Given the description of an element on the screen output the (x, y) to click on. 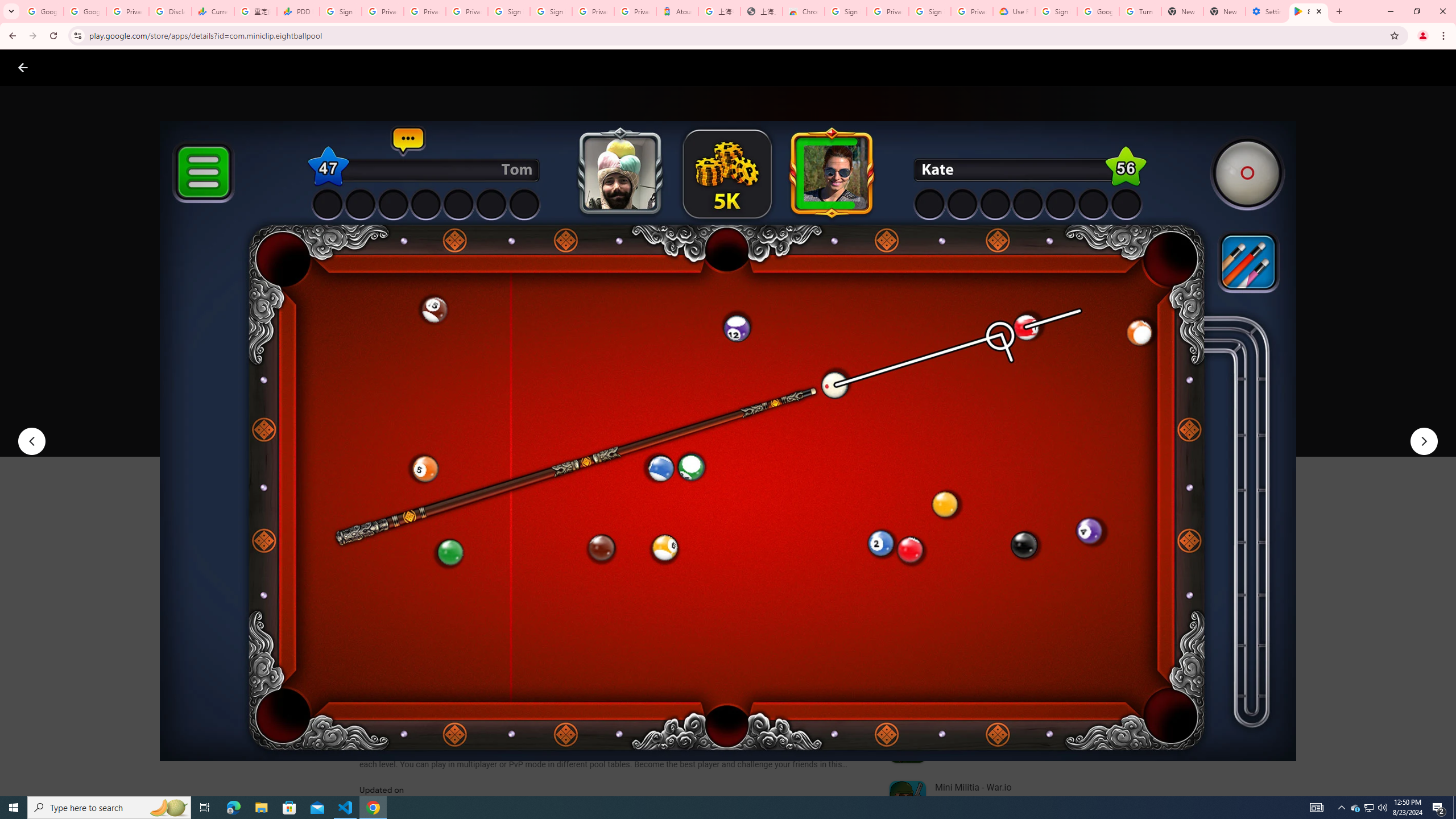
Currencies - Google Finance (212, 11)
Atour Hotel - Google hotels (676, 11)
Privacy Checkup (467, 11)
Add to wishlist (576, 422)
Content rating (553, 373)
